Given the description of an element on the screen output the (x, y) to click on. 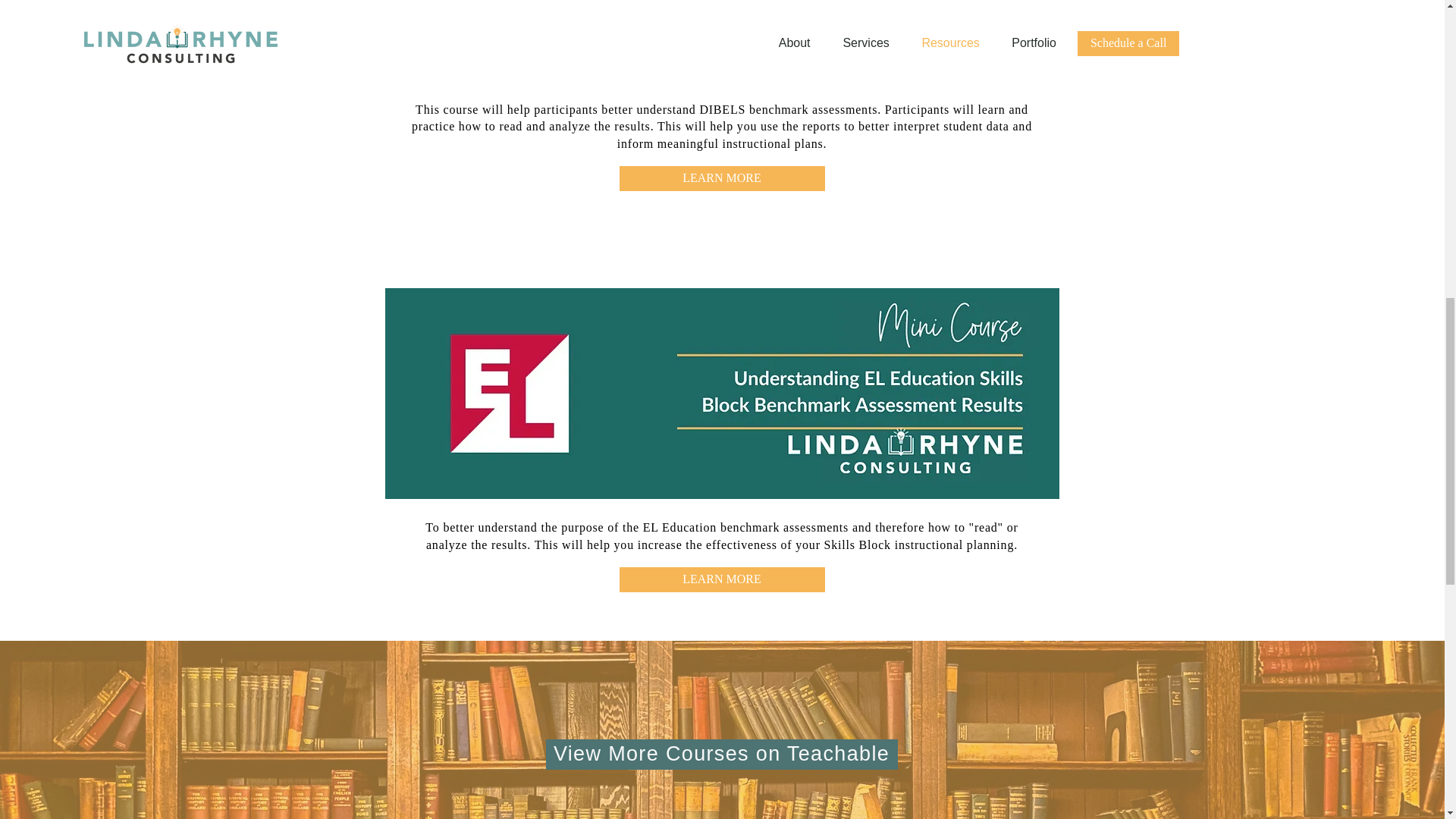
LEARN MORE (721, 178)
LEARN MORE (721, 579)
View More Courses on Teachable (722, 754)
